Given the description of an element on the screen output the (x, y) to click on. 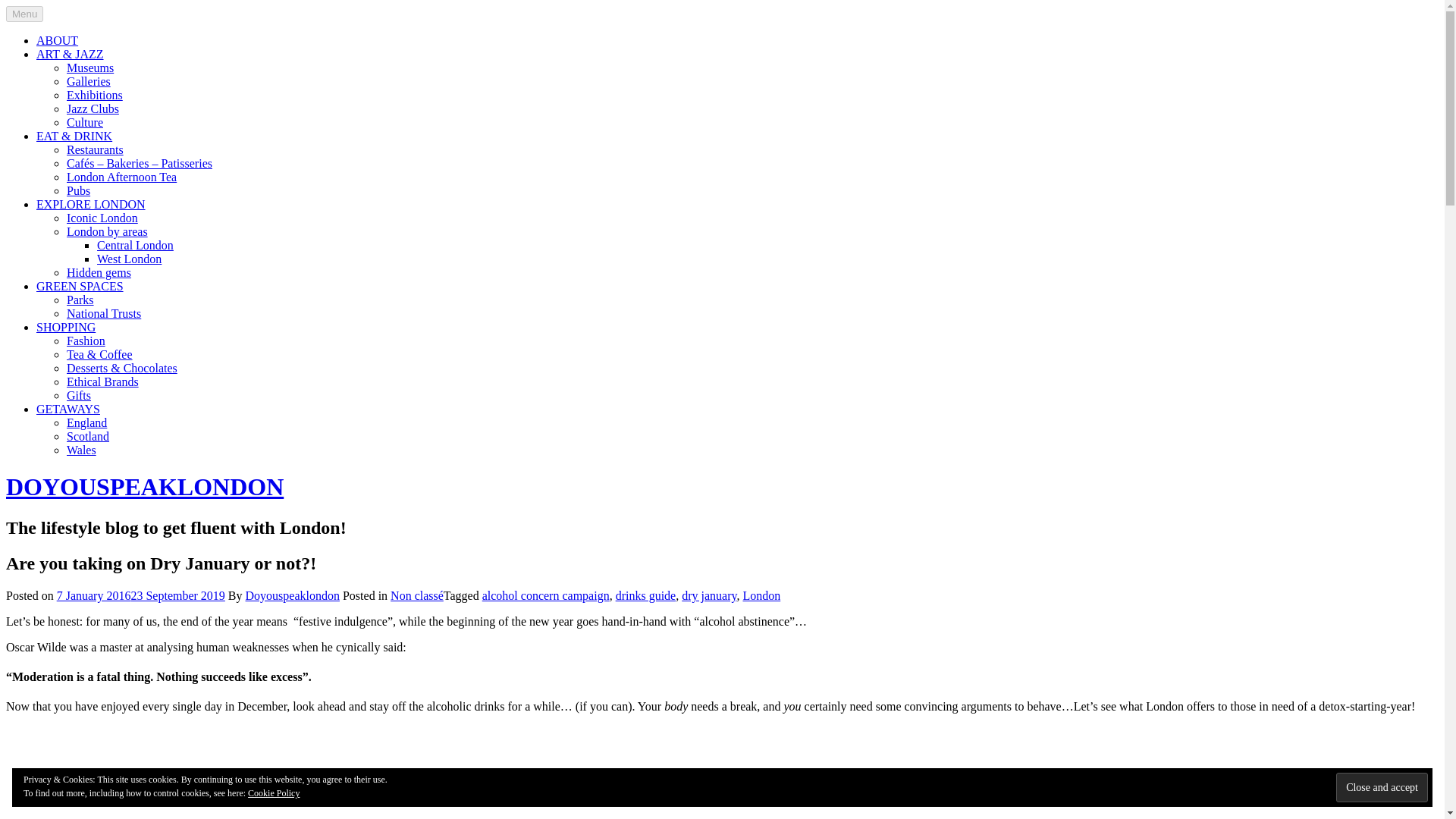
London by areas (107, 231)
DOYOUSPEAKLONDON (144, 486)
Exhibitions (94, 94)
Wales (81, 449)
England (86, 422)
Doyouspeaklondon (292, 594)
Galleries (88, 81)
ABOUT (57, 40)
dry january (708, 594)
National Trusts (103, 313)
